Given the description of an element on the screen output the (x, y) to click on. 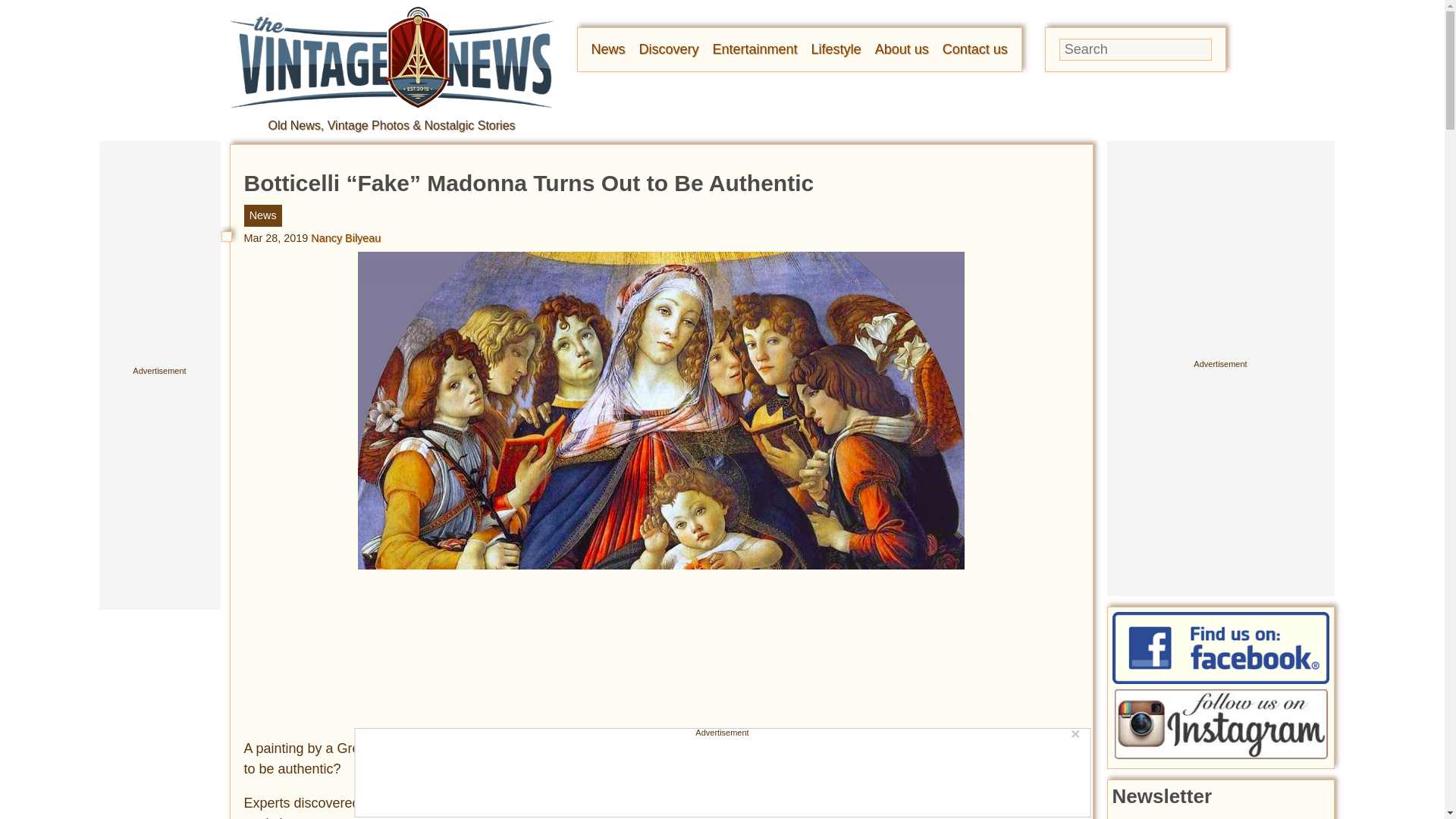
Discovery (668, 48)
Contact us (974, 48)
About us (901, 48)
Entertainment (755, 48)
News (608, 48)
Lifestyle (835, 48)
